Given the description of an element on the screen output the (x, y) to click on. 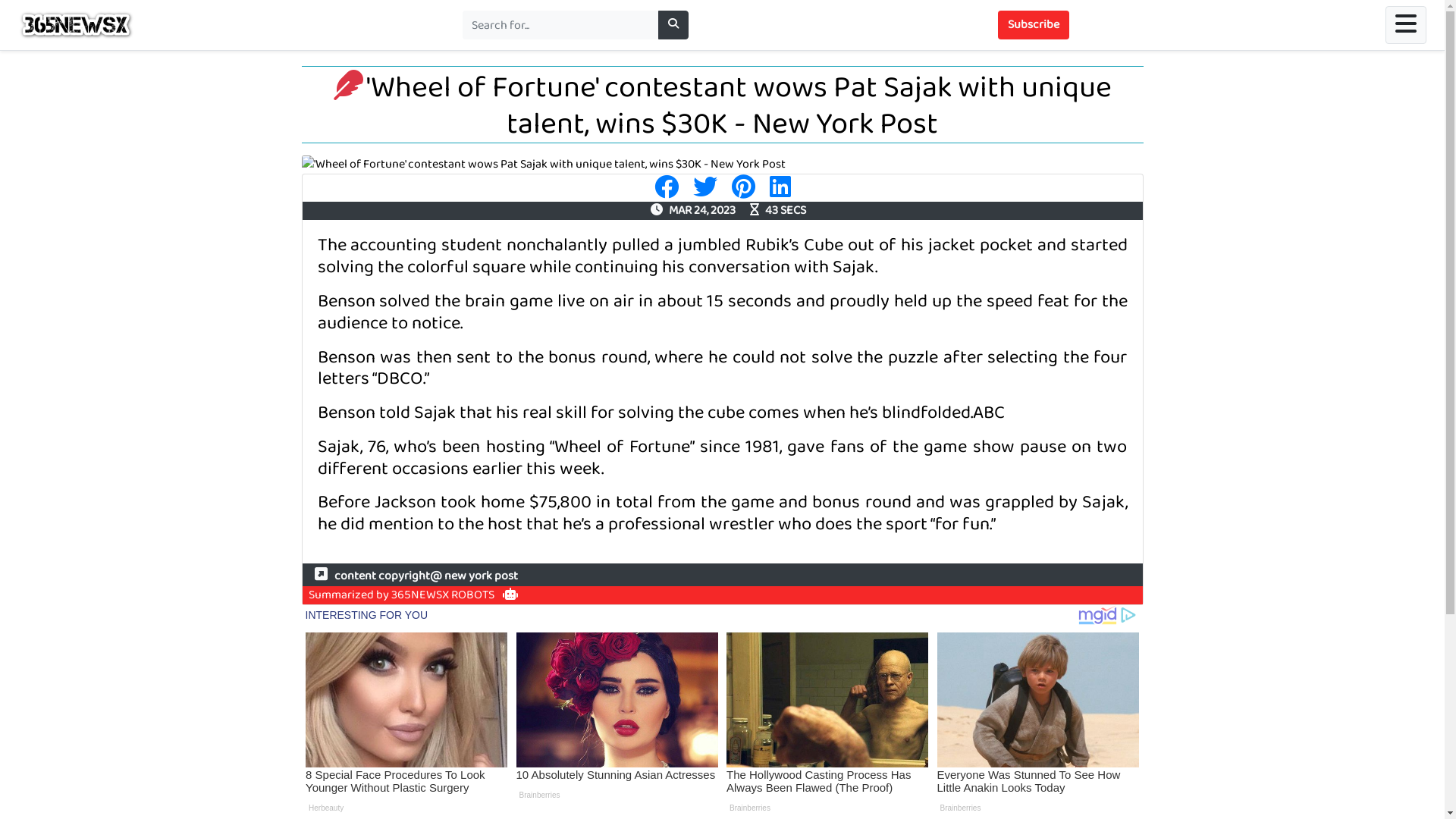
content copyright@ new york post Element type: text (415, 574)
Subscribe Element type: text (1033, 24)
